Given the description of an element on the screen output the (x, y) to click on. 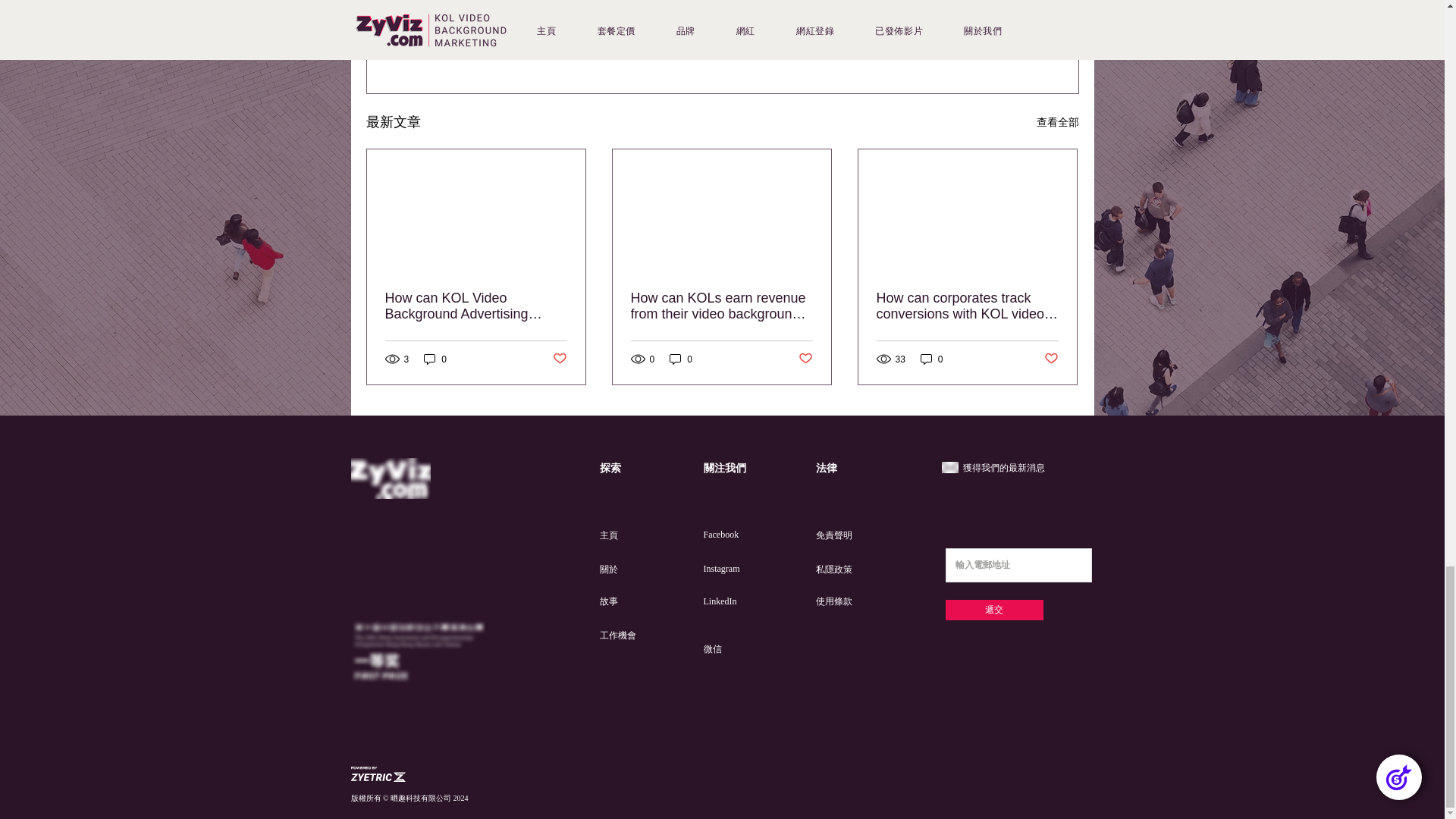
First Prize of 10th CXCYDS-HMT (417, 651)
